Given the description of an element on the screen output the (x, y) to click on. 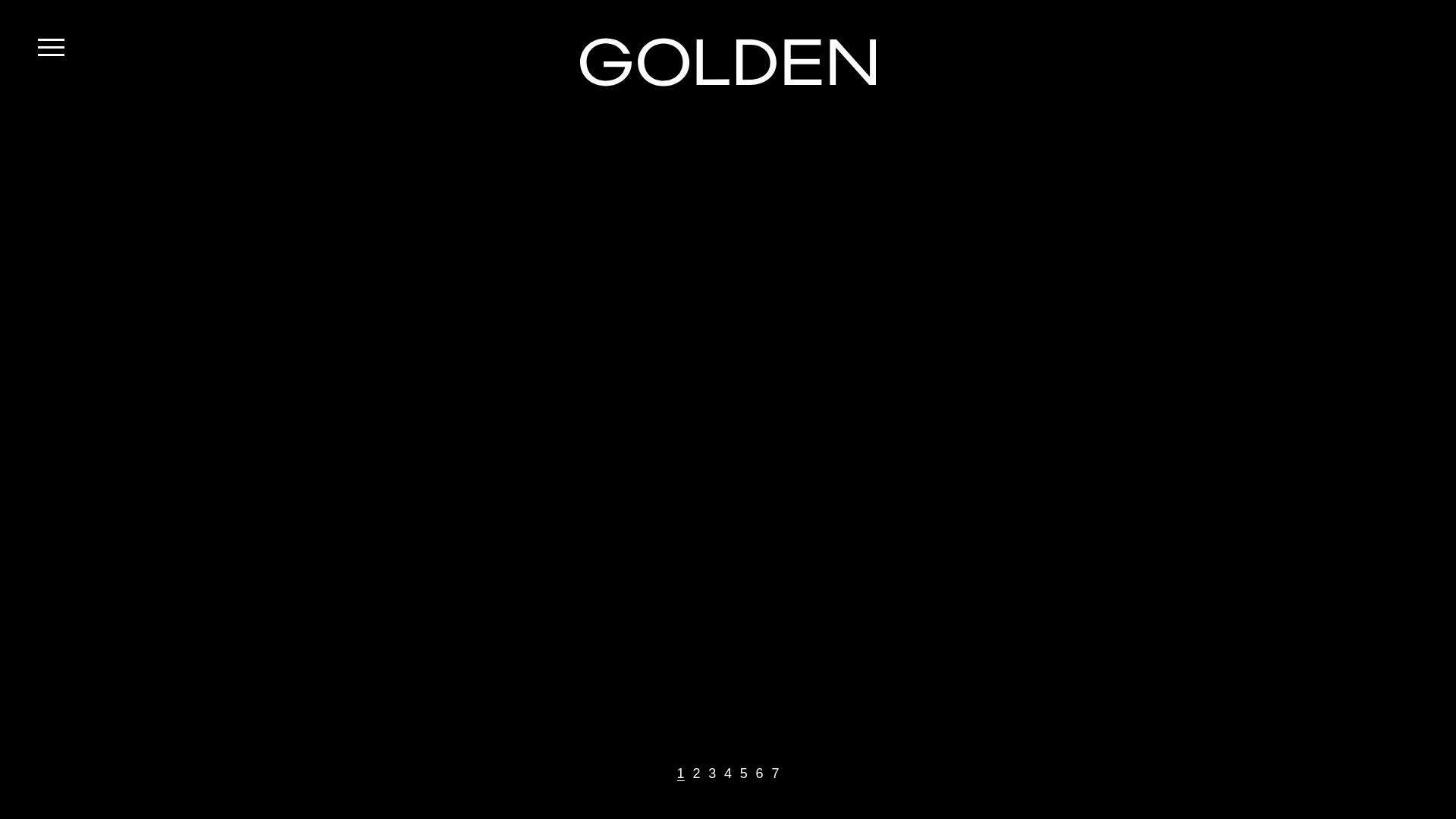
6 Element type: text (759, 773)
4 Element type: text (727, 773)
5 Element type: text (743, 773)
7 Element type: text (774, 773)
2 Element type: text (695, 773)
3 Element type: text (711, 773)
1 Element type: text (680, 773)
